Given the description of an element on the screen output the (x, y) to click on. 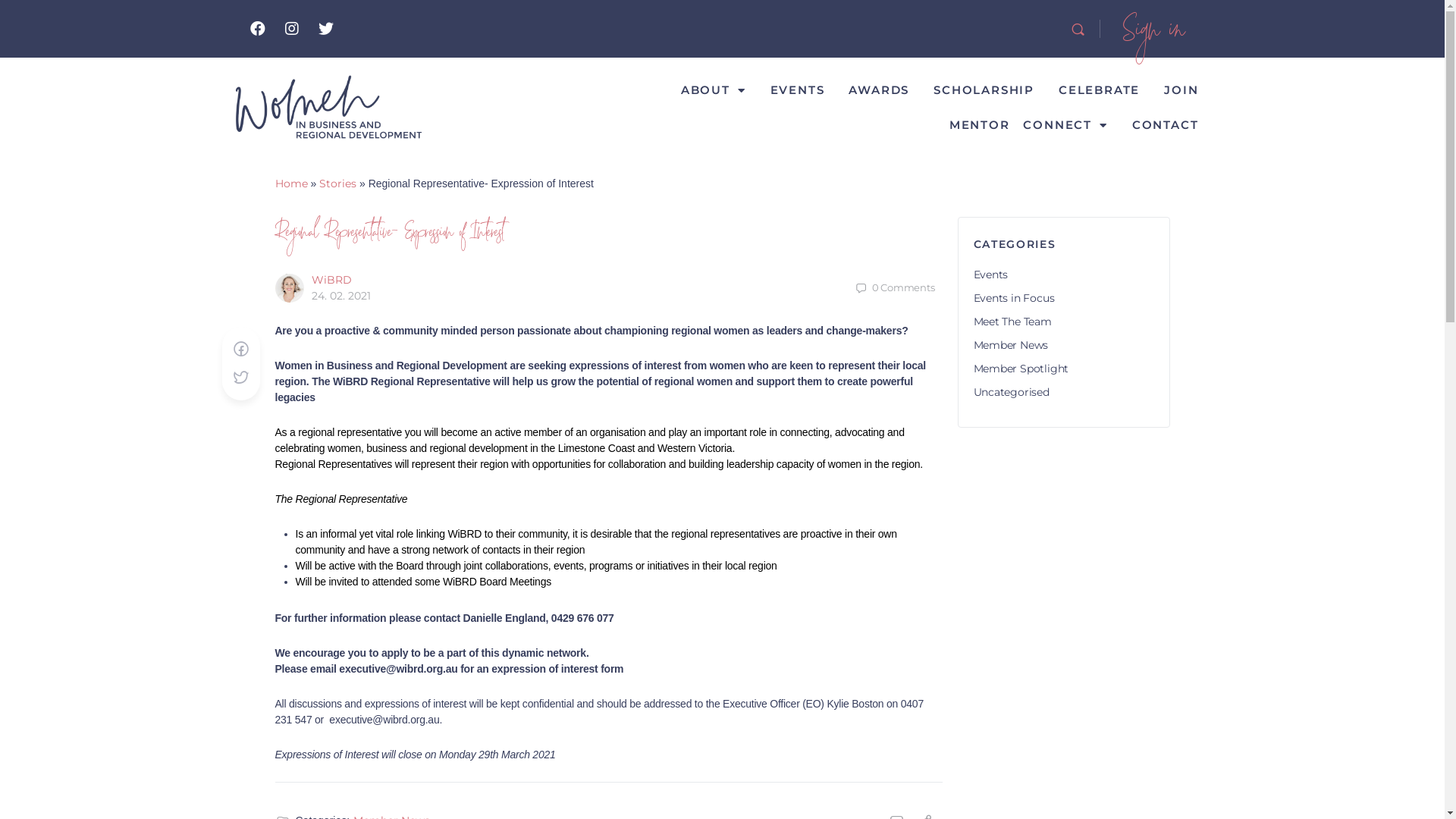
ABOUT Element type: text (713, 89)
SCHOLARSHIP Element type: text (983, 89)
WiBRD Element type: text (330, 279)
MENTOR CONNECT Element type: text (1028, 124)
24. 02. 2021 Element type: text (340, 295)
0 Comments Element type: text (894, 288)
Events Element type: text (990, 274)
Events in Focus Element type: text (1013, 297)
JOIN Element type: text (1180, 89)
EVENTS Element type: text (797, 89)
AWARDS Element type: text (878, 89)
Stories Element type: text (337, 183)
Member Spotlight Element type: text (1021, 368)
Member News Element type: text (1010, 344)
Uncategorised Element type: text (1011, 391)
CONTACT Element type: text (1165, 124)
CELEBRATE Element type: text (1098, 89)
Meet The Team Element type: text (1012, 321)
Home Element type: text (290, 183)
Sign in Element type: text (1153, 28)
